Given the description of an element on the screen output the (x, y) to click on. 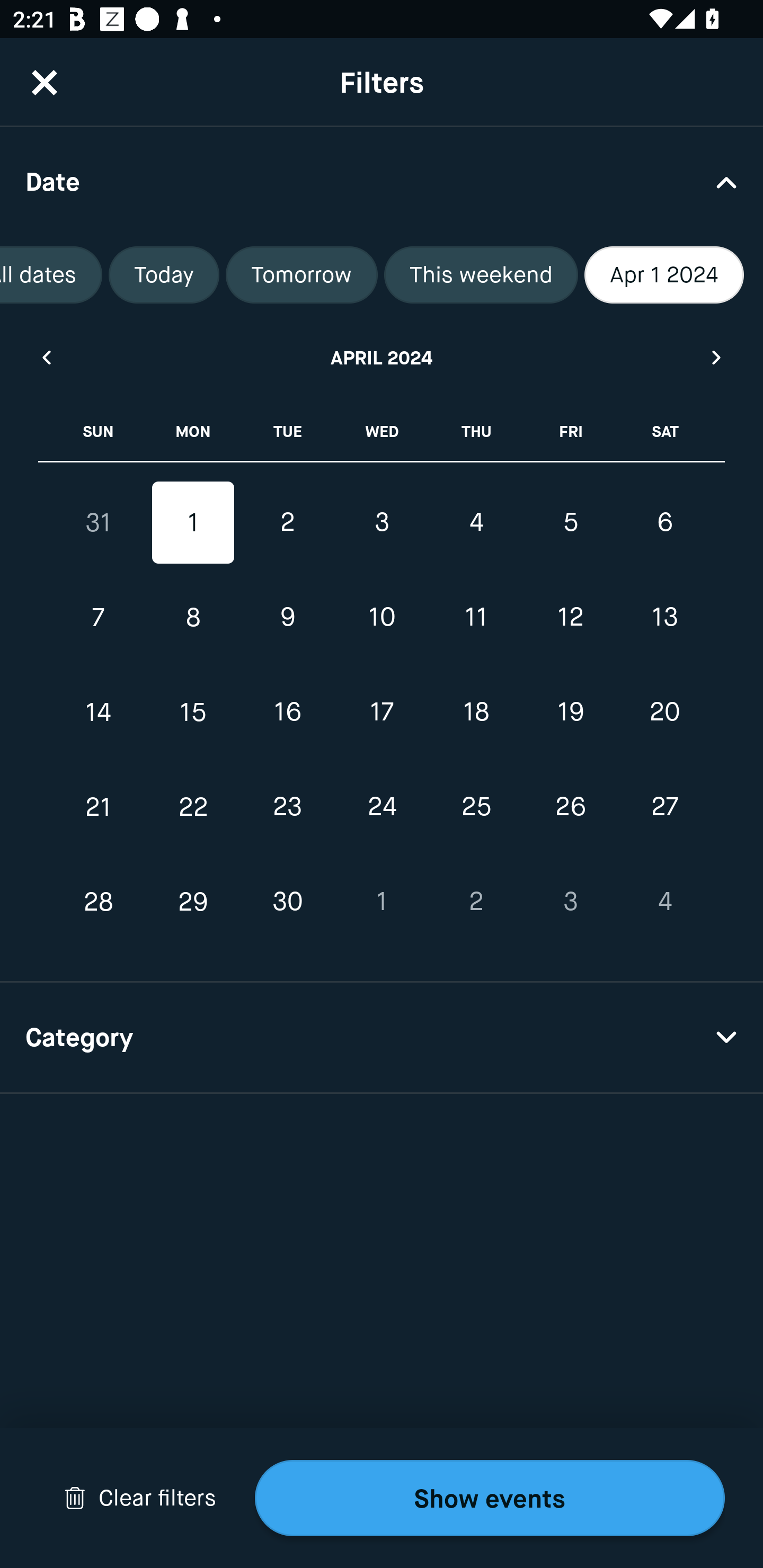
CloseButton (44, 82)
Date Drop Down Arrow (381, 181)
Today (163, 274)
Tomorrow (301, 274)
This weekend (480, 274)
Apr 1 2024 (663, 274)
Previous (45, 357)
Next (717, 357)
31 (98, 522)
1 (192, 522)
2 (287, 522)
3 (381, 522)
4 (475, 522)
5 (570, 522)
6 (664, 522)
7 (98, 617)
8 (192, 617)
9 (287, 617)
10 (381, 617)
11 (475, 617)
12 (570, 617)
13 (664, 617)
14 (98, 711)
15 (192, 711)
16 (287, 711)
17 (381, 711)
18 (475, 711)
19 (570, 711)
20 (664, 711)
21 (98, 806)
22 (192, 806)
23 (287, 806)
24 (381, 806)
25 (475, 806)
26 (570, 806)
27 (664, 806)
28 (98, 901)
29 (192, 901)
30 (287, 901)
1 (381, 901)
2 (475, 901)
3 (570, 901)
4 (664, 901)
Category Drop Down Arrow (381, 1038)
Drop Down Arrow Clear filters (139, 1497)
Show events (489, 1497)
